Given the description of an element on the screen output the (x, y) to click on. 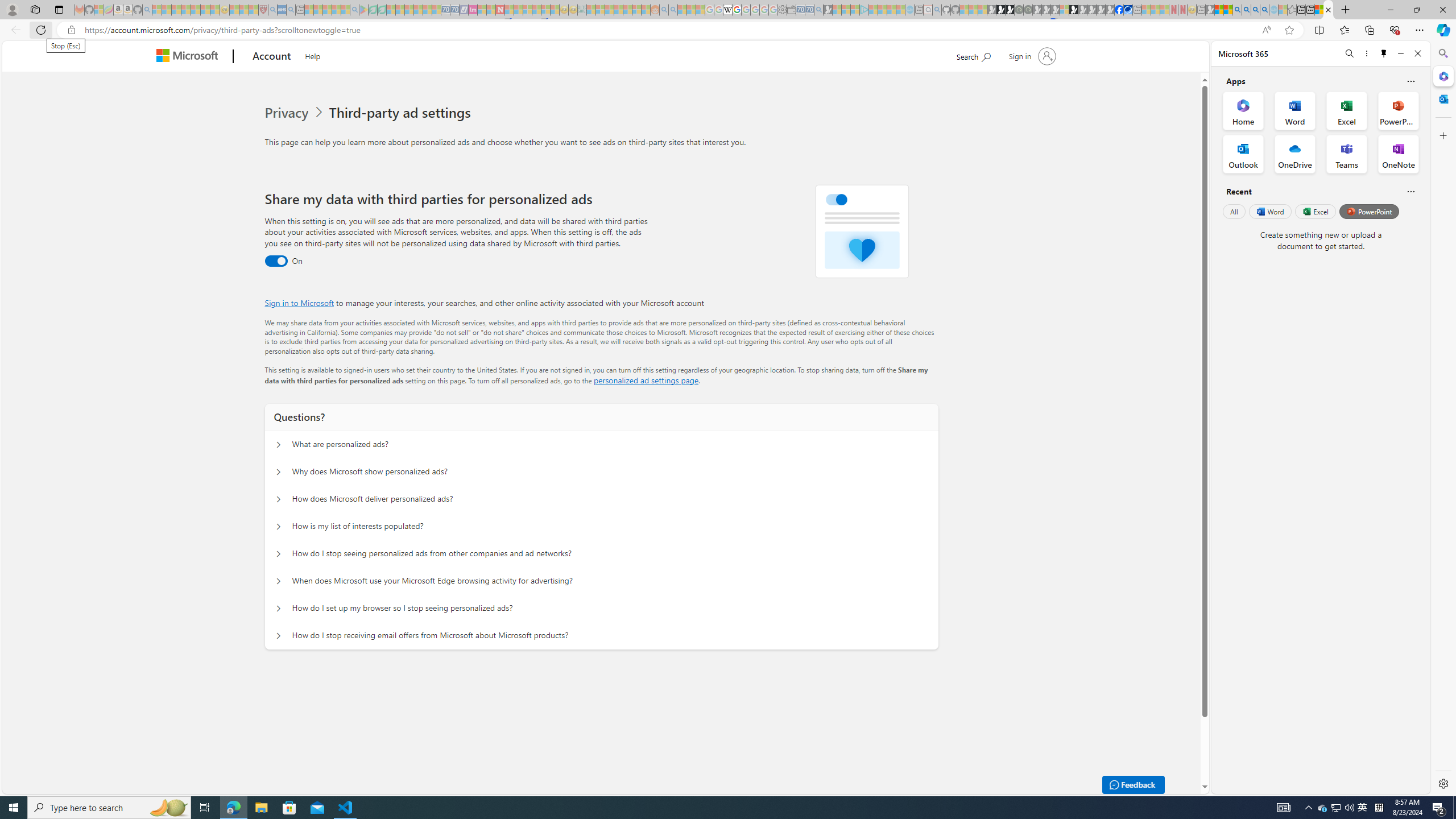
Microsoft account | Privacy - Sleeping (854, 9)
Privacy (287, 112)
Terms of Use Agreement - Sleeping (372, 9)
Account (272, 56)
personalized ad settings page (645, 379)
Search Microsoft.com (972, 54)
